Given the description of an element on the screen output the (x, y) to click on. 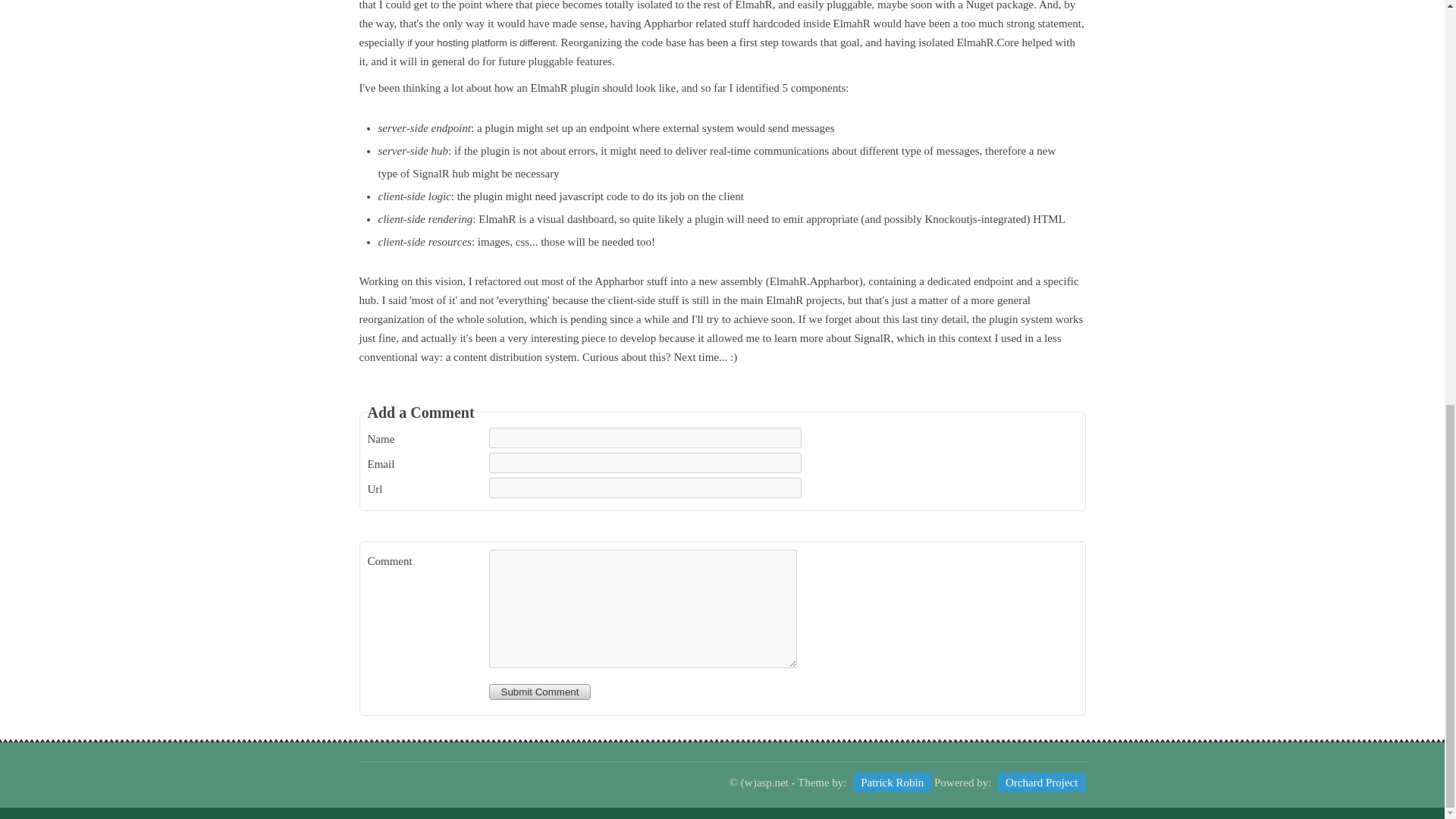
Submit Comment (539, 691)
Orchard Project (1040, 782)
Patrick Robin (892, 782)
Patrick Robin (892, 782)
